Given the description of an element on the screen output the (x, y) to click on. 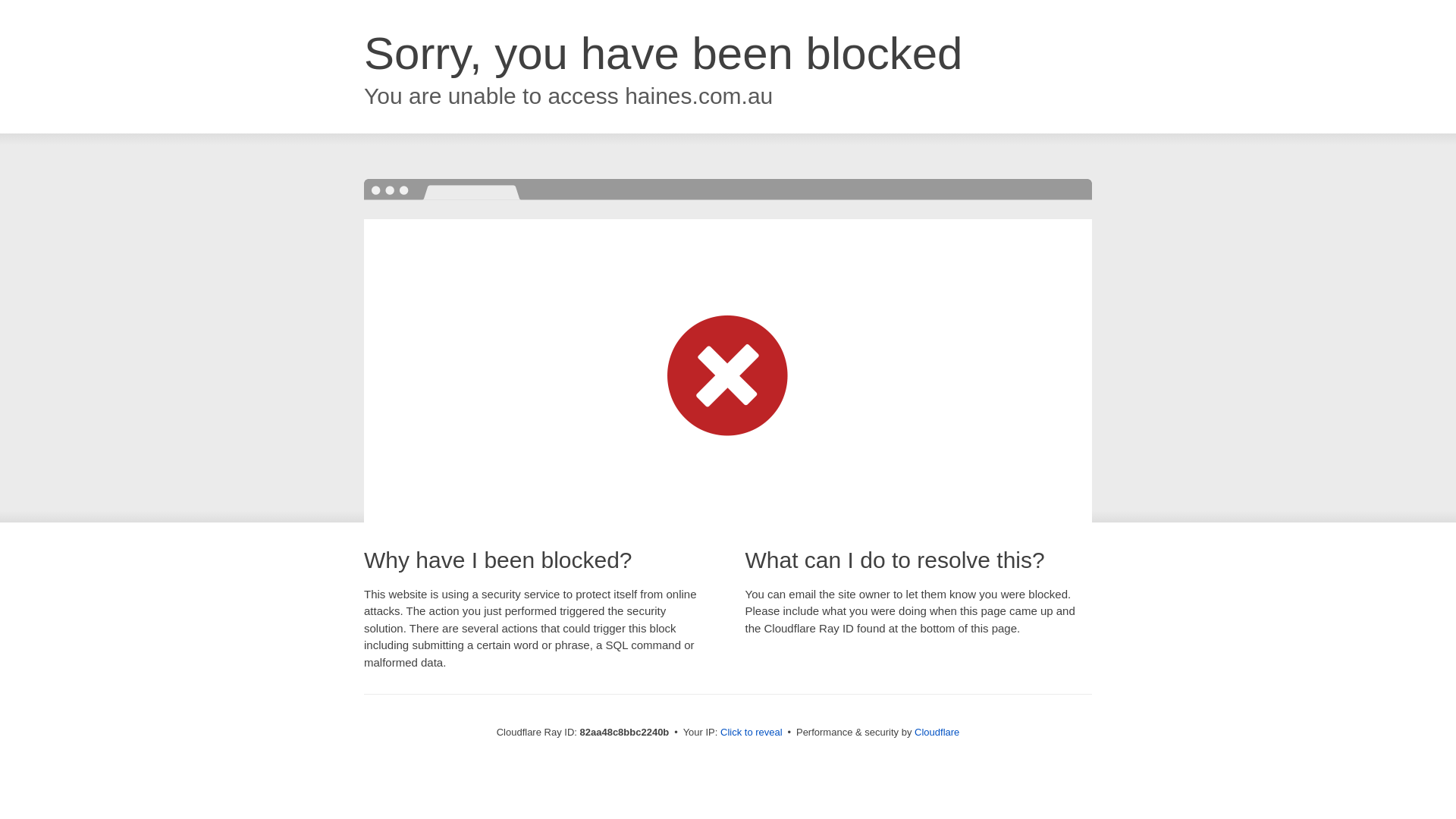
Cloudflare Element type: text (936, 731)
Click to reveal Element type: text (751, 732)
